Given the description of an element on the screen output the (x, y) to click on. 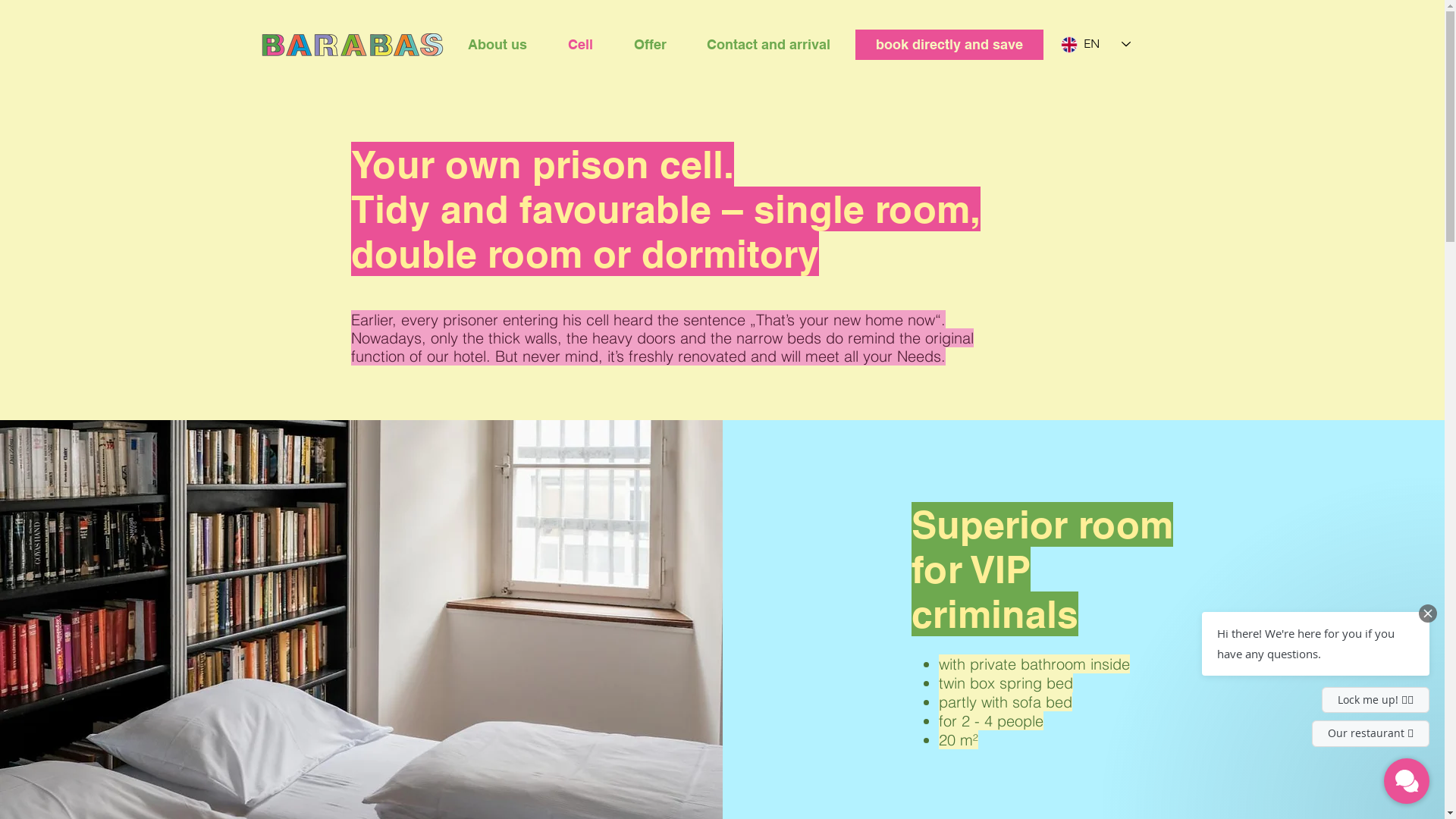
Cell Element type: text (580, 44)
About us Element type: text (497, 44)
book directly and save Element type: text (949, 44)
Contact and arrival Element type: text (768, 44)
Offer Element type: text (649, 44)
